Given the description of an element on the screen output the (x, y) to click on. 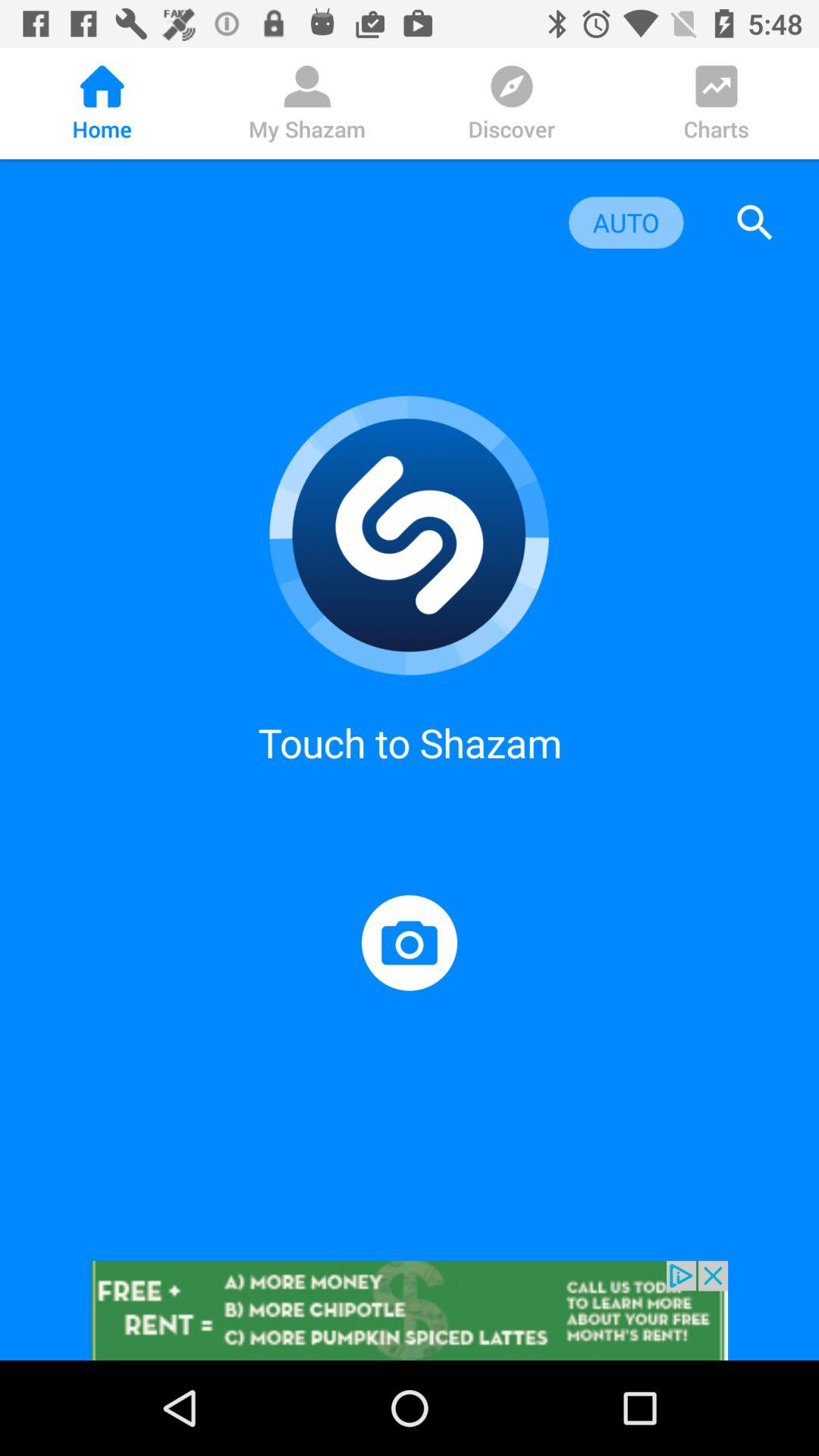
open advertisement (409, 1310)
